Given the description of an element on the screen output the (x, y) to click on. 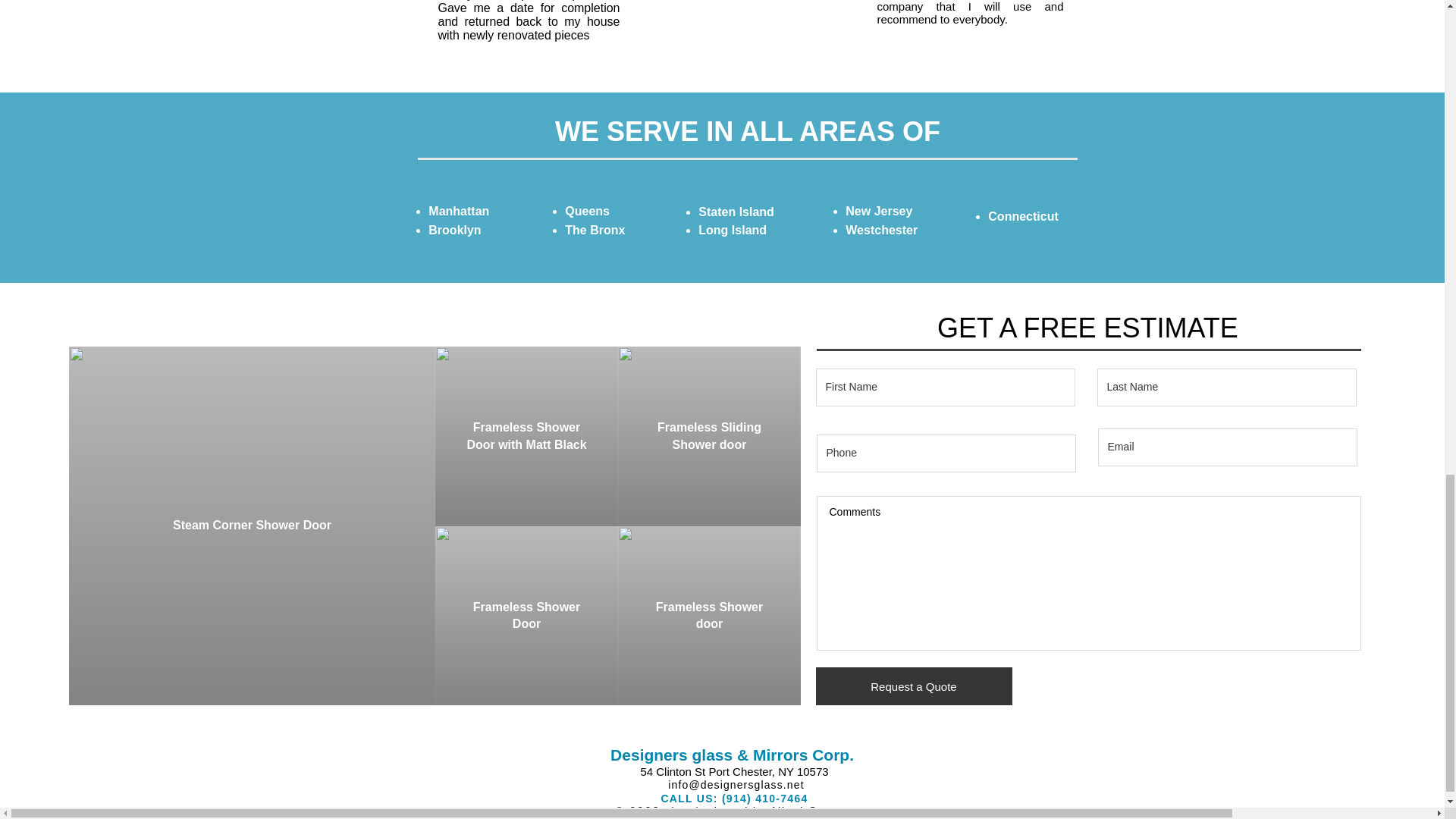
Request a Quote (913, 686)
